Given the description of an element on the screen output the (x, y) to click on. 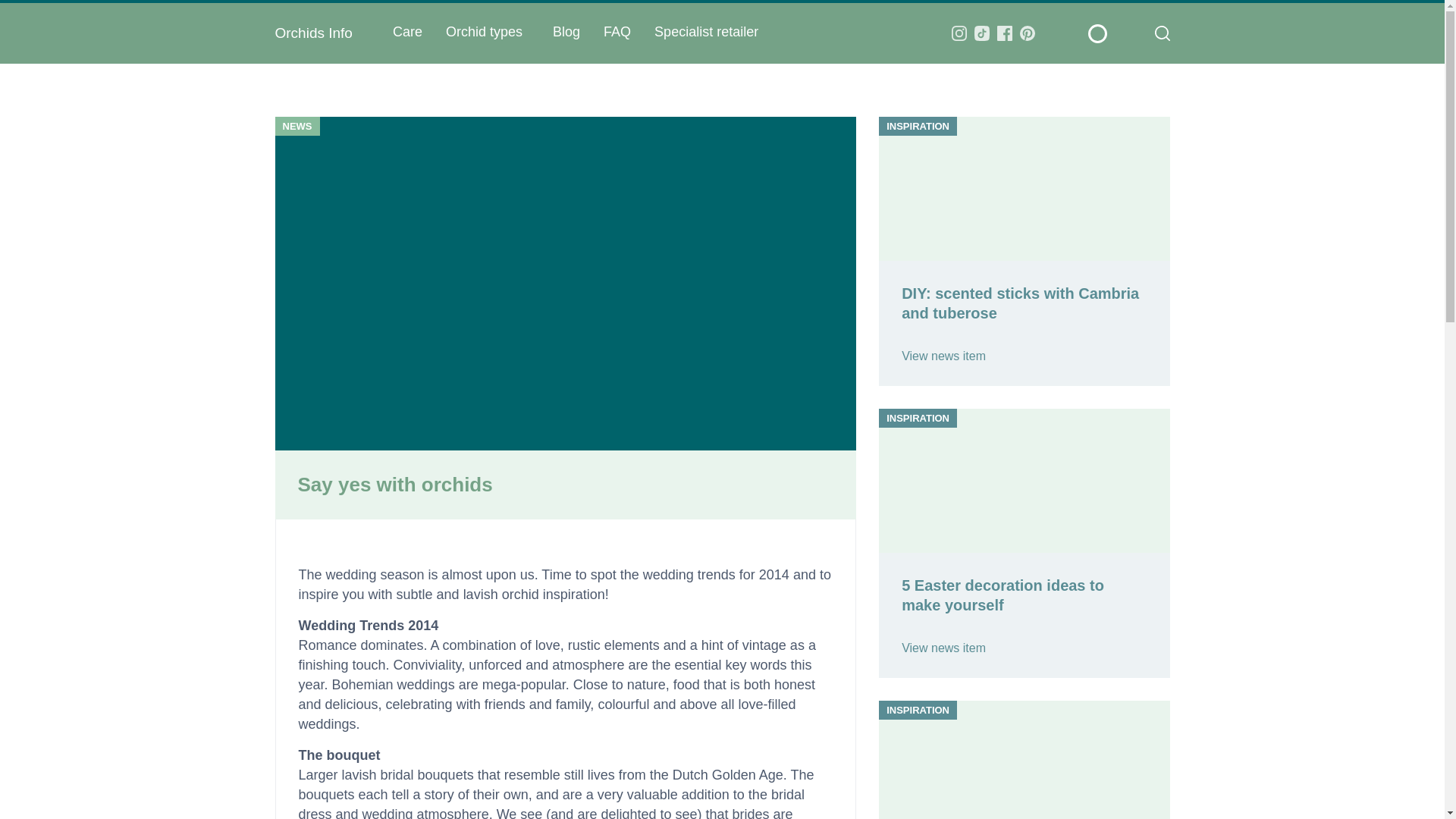
5 Easter decoration ideas to make yourself (952, 659)
Orchids Info (313, 33)
Specialist retailer (706, 31)
Orchid types (478, 31)
DIY: scented sticks with Cambria and tuberose (952, 367)
